Given the description of an element on the screen output the (x, y) to click on. 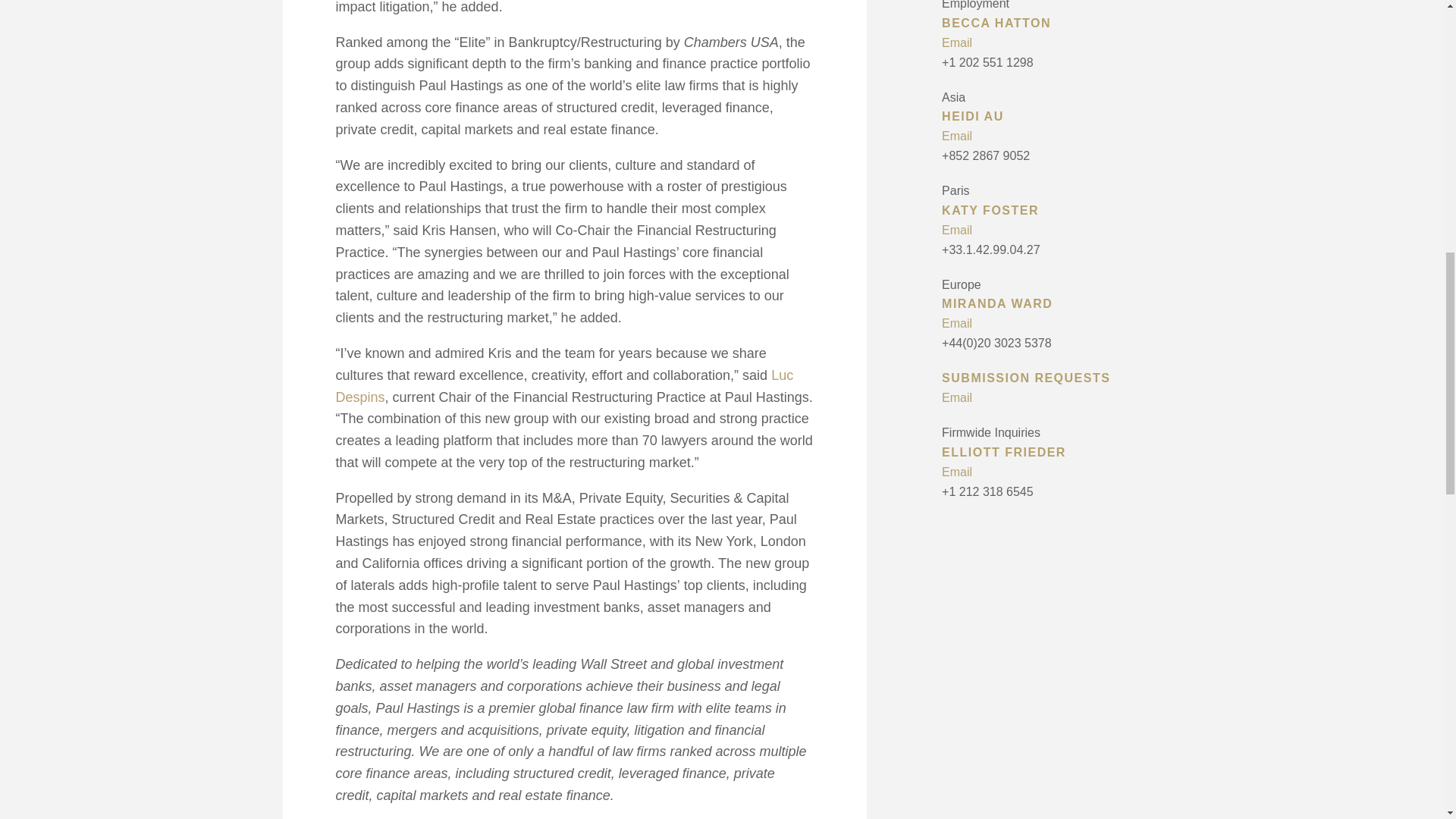
Email (1059, 323)
Email (1059, 230)
Email (1059, 43)
Email (1059, 472)
Luc Despins (563, 385)
Email (1059, 136)
Email (1059, 397)
